Given the description of an element on the screen output the (x, y) to click on. 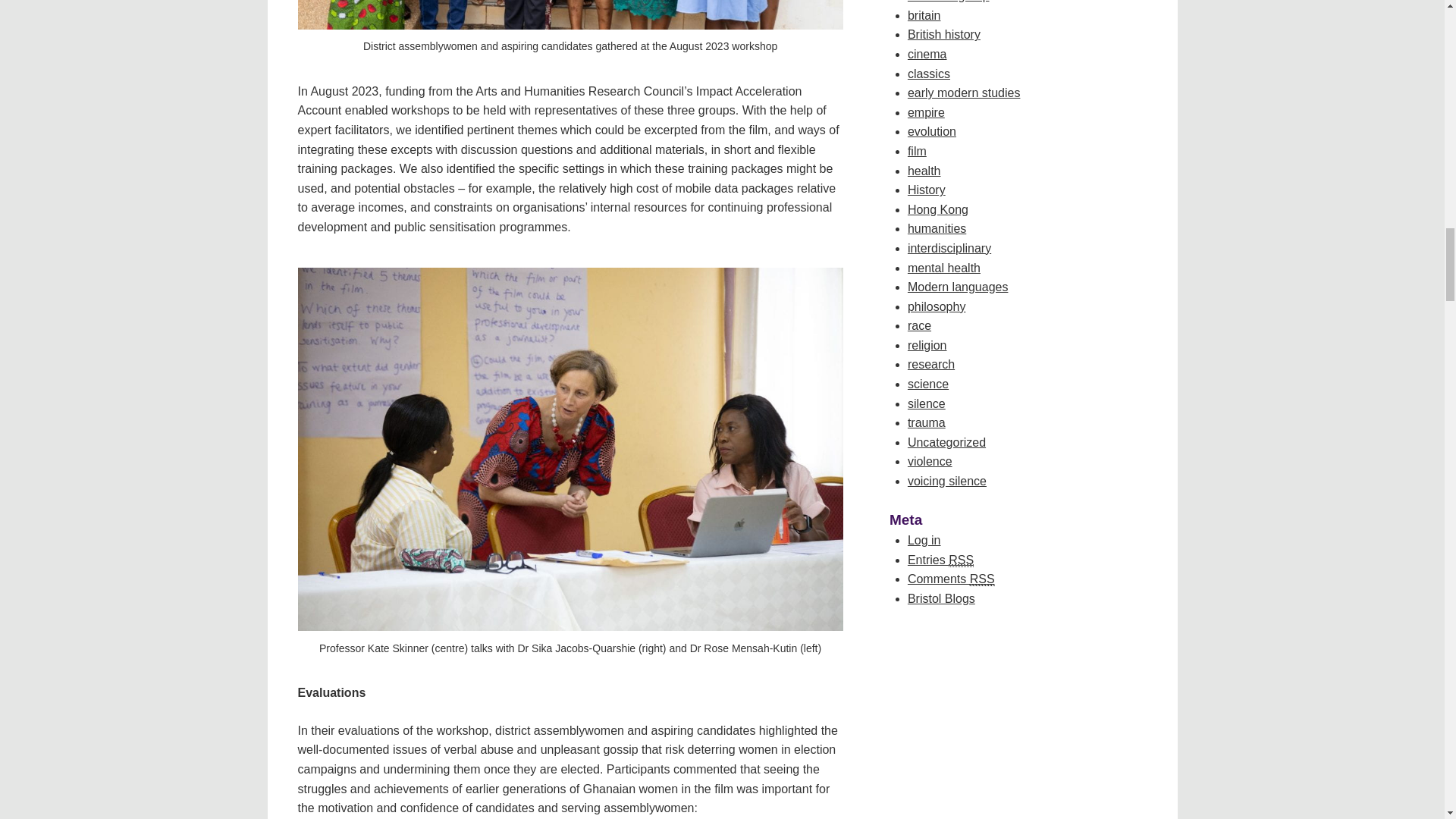
Powered by Bristol Blogs (941, 598)
Really Simple Syndication (961, 560)
The latest comments to all posts in RSS (950, 579)
Really Simple Syndication (981, 579)
Syndicate this site using RSS 2.0 (940, 560)
